Given the description of an element on the screen output the (x, y) to click on. 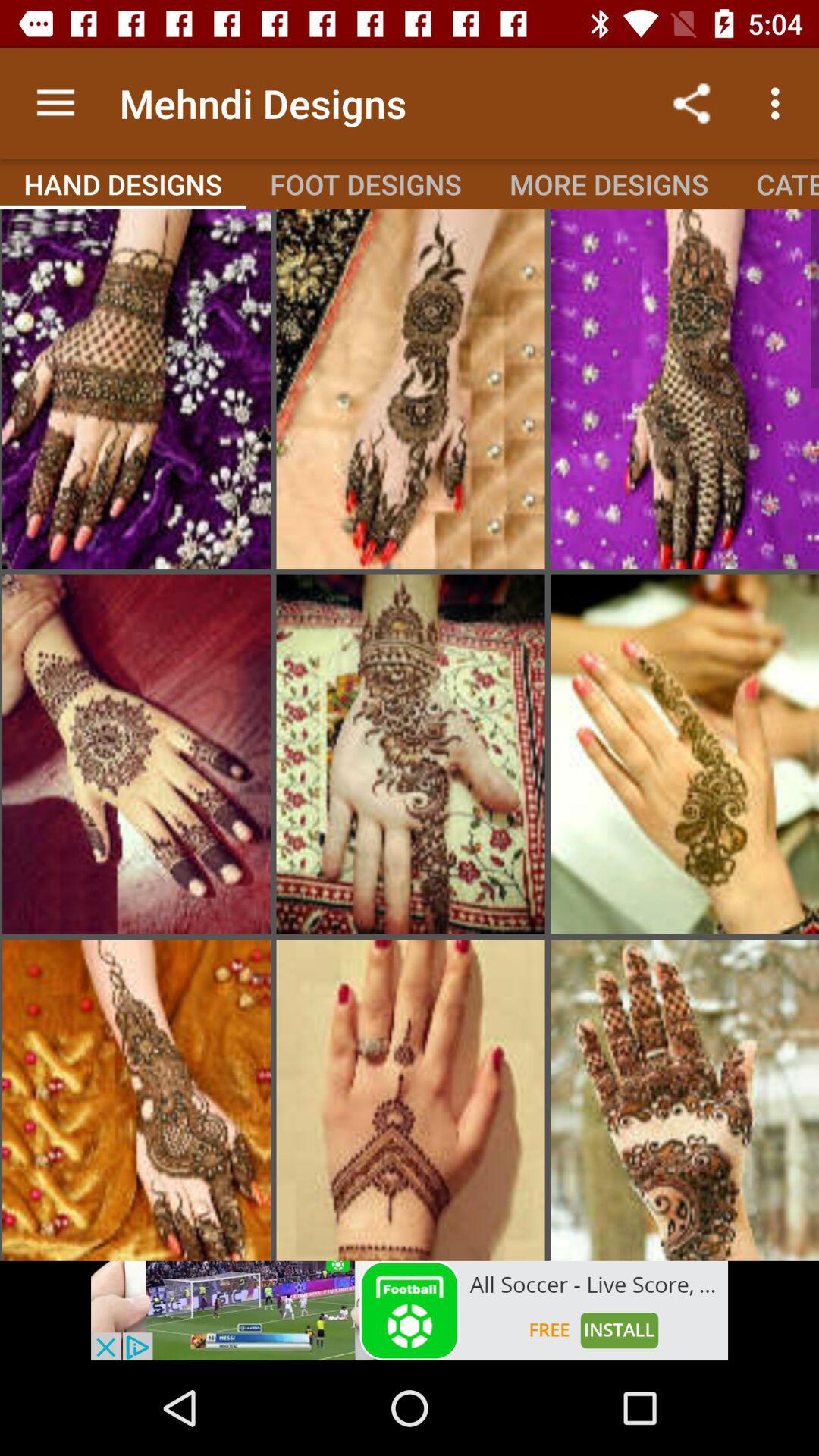
open an advertisement (409, 1310)
